Given the description of an element on the screen output the (x, y) to click on. 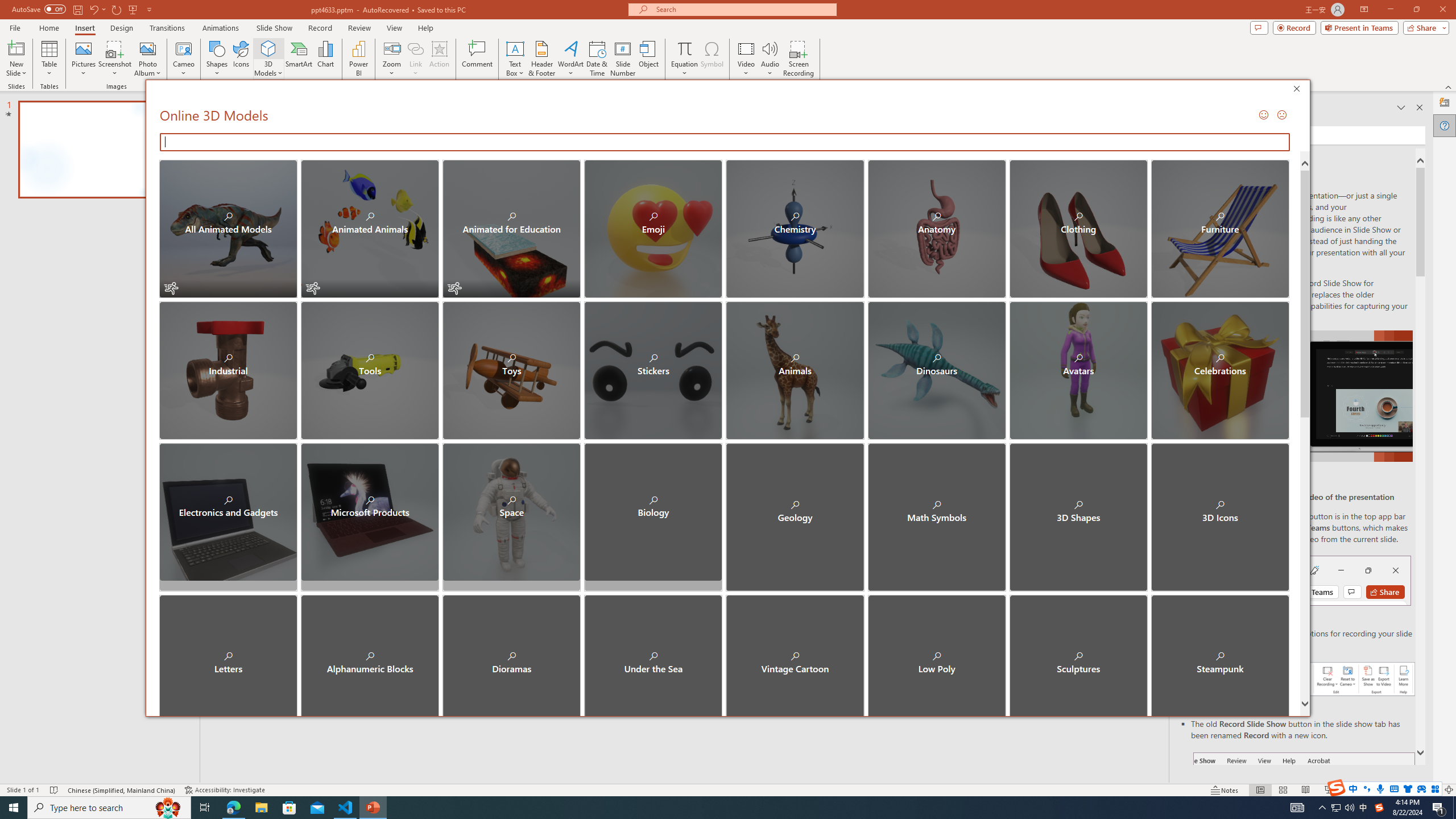
3D Icons (1219, 511)
Chemistry (794, 228)
Vintage Cartoon (794, 653)
Anatomy (936, 228)
3D Models (268, 58)
Stickers (653, 370)
Equation (683, 58)
Slide Number (622, 58)
Animated Animals (369, 228)
Low Poly (936, 653)
